Given the description of an element on the screen output the (x, y) to click on. 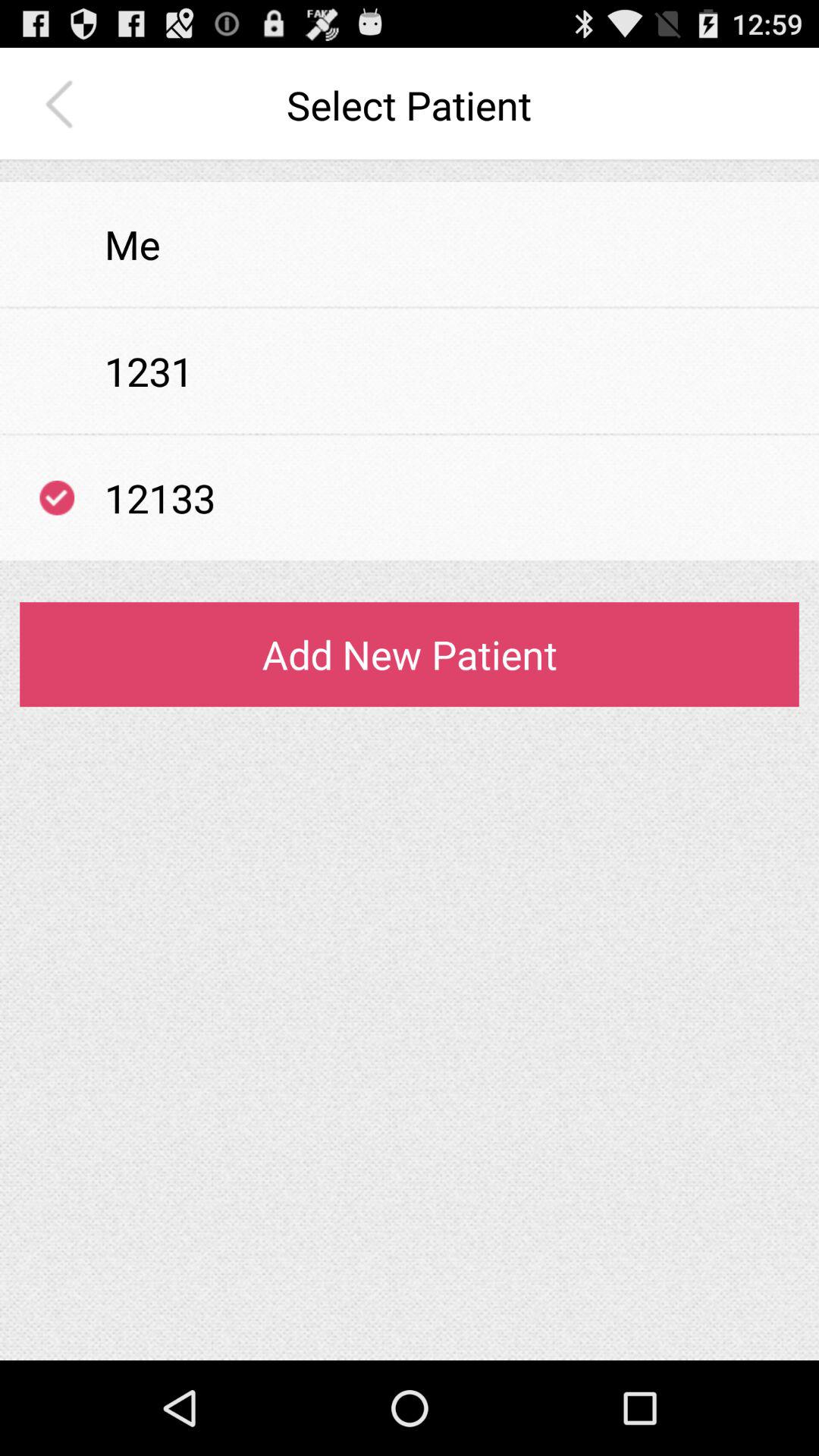
click the item below 1231 icon (409, 434)
